Given the description of an element on the screen output the (x, y) to click on. 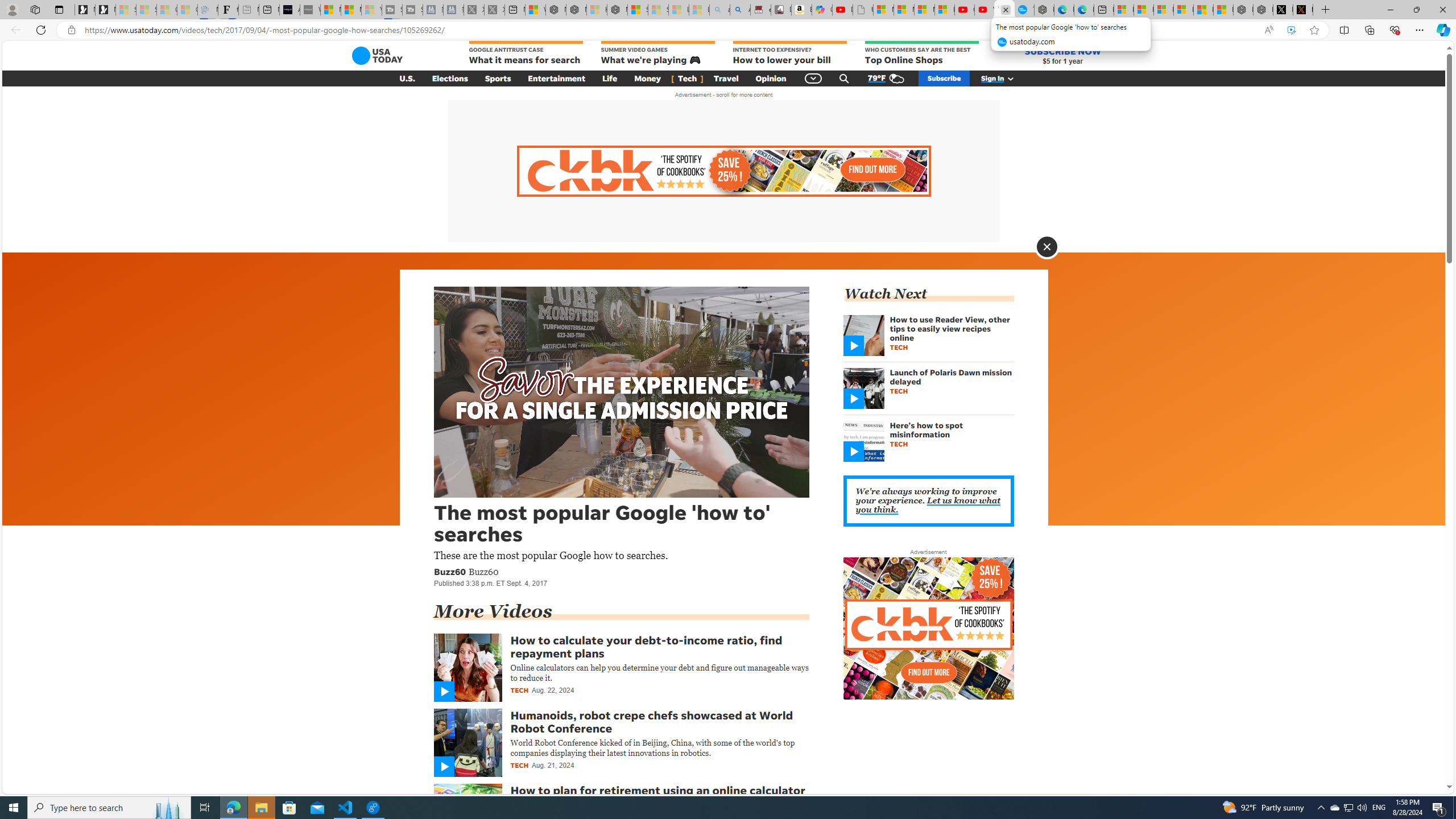
U.S. (406, 78)
The most popular Google 'how to' searches (1024, 9)
Class: gnt_n_se_a_svg (844, 78)
YouTube Kids - An App Created for Kids to Explore Content (983, 9)
[ Tech ] (687, 78)
Untitled (862, 9)
Class: gnt_n_dd_bt_svg (813, 78)
Class: gnt_n_lg_svg (376, 55)
Class: gnt_m_flm_svg (443, 766)
